Given the description of an element on the screen output the (x, y) to click on. 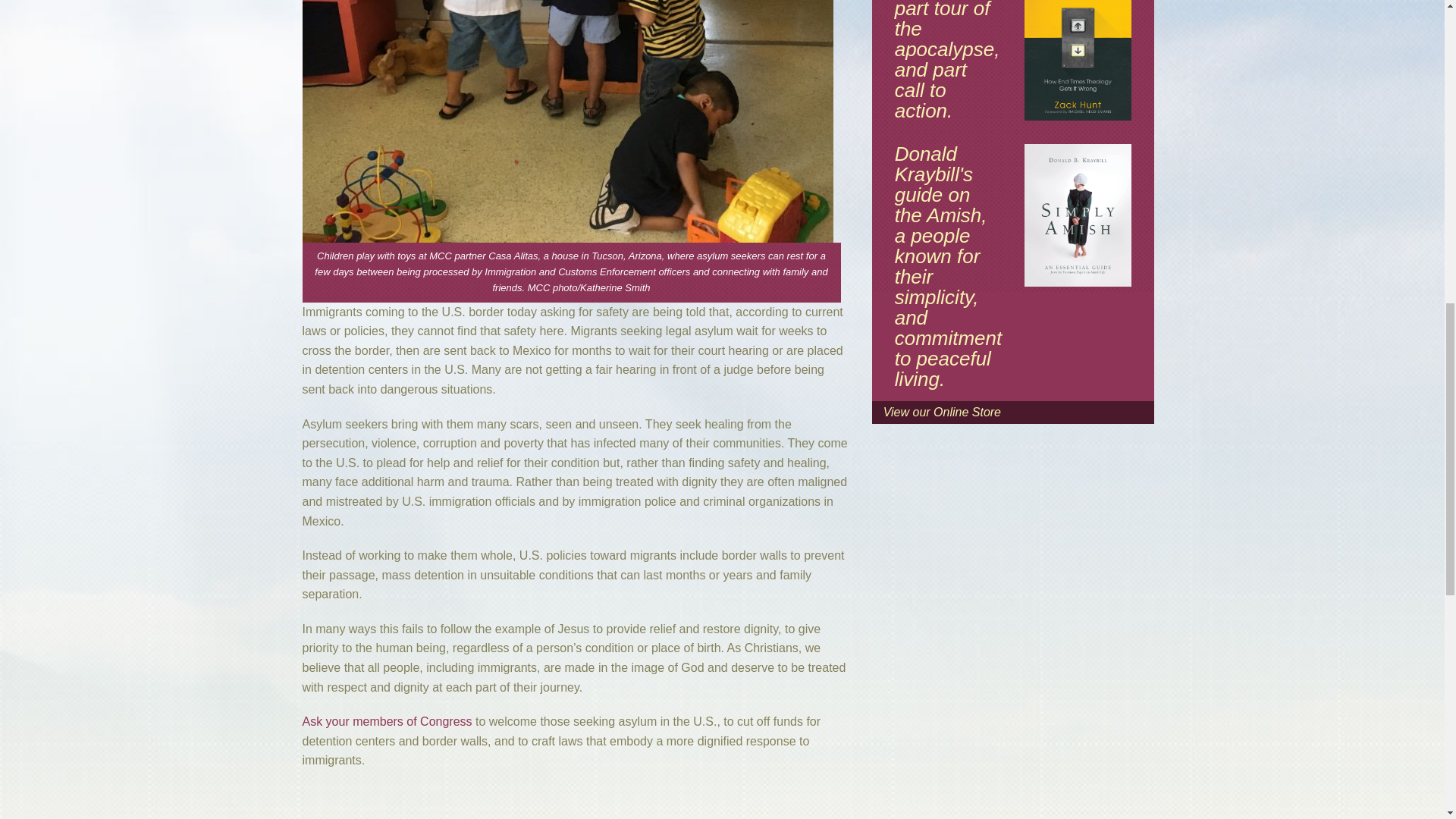
Ask your members of Congress (386, 721)
